Given the description of an element on the screen output the (x, y) to click on. 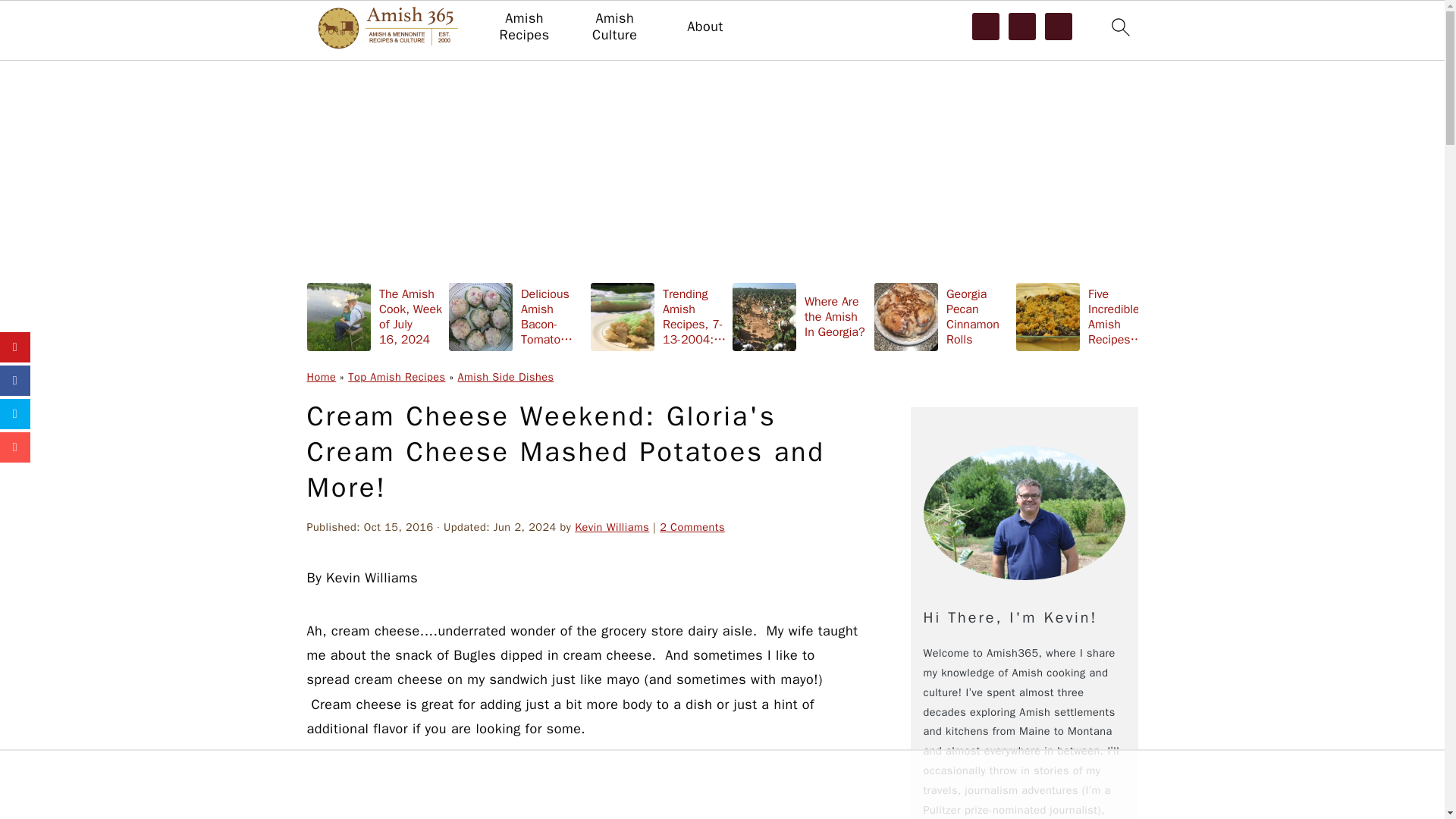
search icon (1119, 26)
Amish Recipes (523, 26)
The Amish Cook, Week of July 16, 2024 (373, 316)
About (704, 27)
Delicious Amish Bacon-Tomato Spread (516, 316)
Where Are the Amish In Georgia? (800, 316)
The Amish Cook, Week of July 8, 2024 (1225, 316)
Five Incredible Amish Recipes Bursting With Raisin Goodness (1084, 316)
Georgia Pecan Cinnamon Rolls (941, 316)
Amish Culture (615, 26)
